Given the description of an element on the screen output the (x, y) to click on. 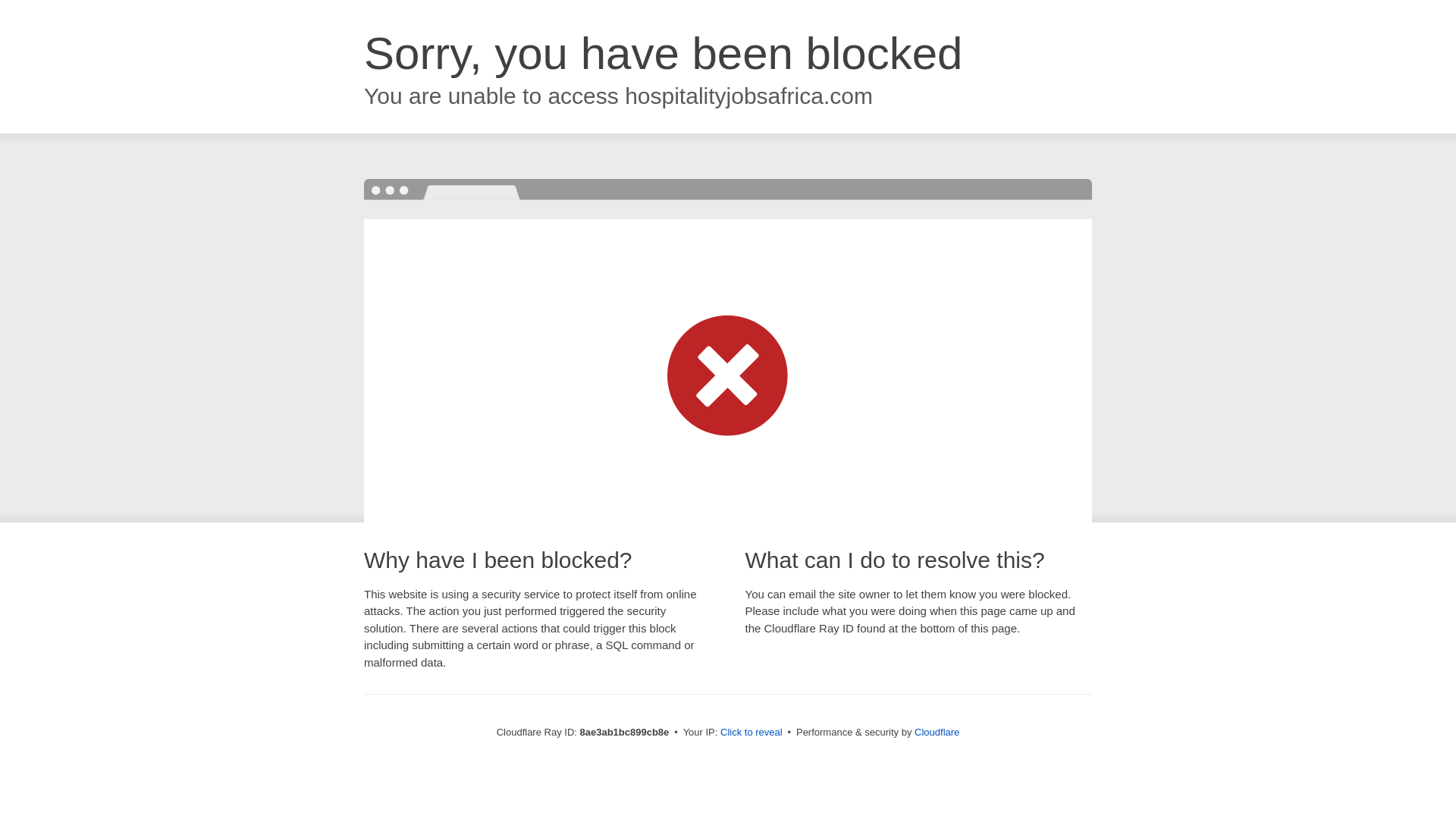
Click to reveal (751, 732)
Cloudflare (936, 731)
